Given the description of an element on the screen output the (x, y) to click on. 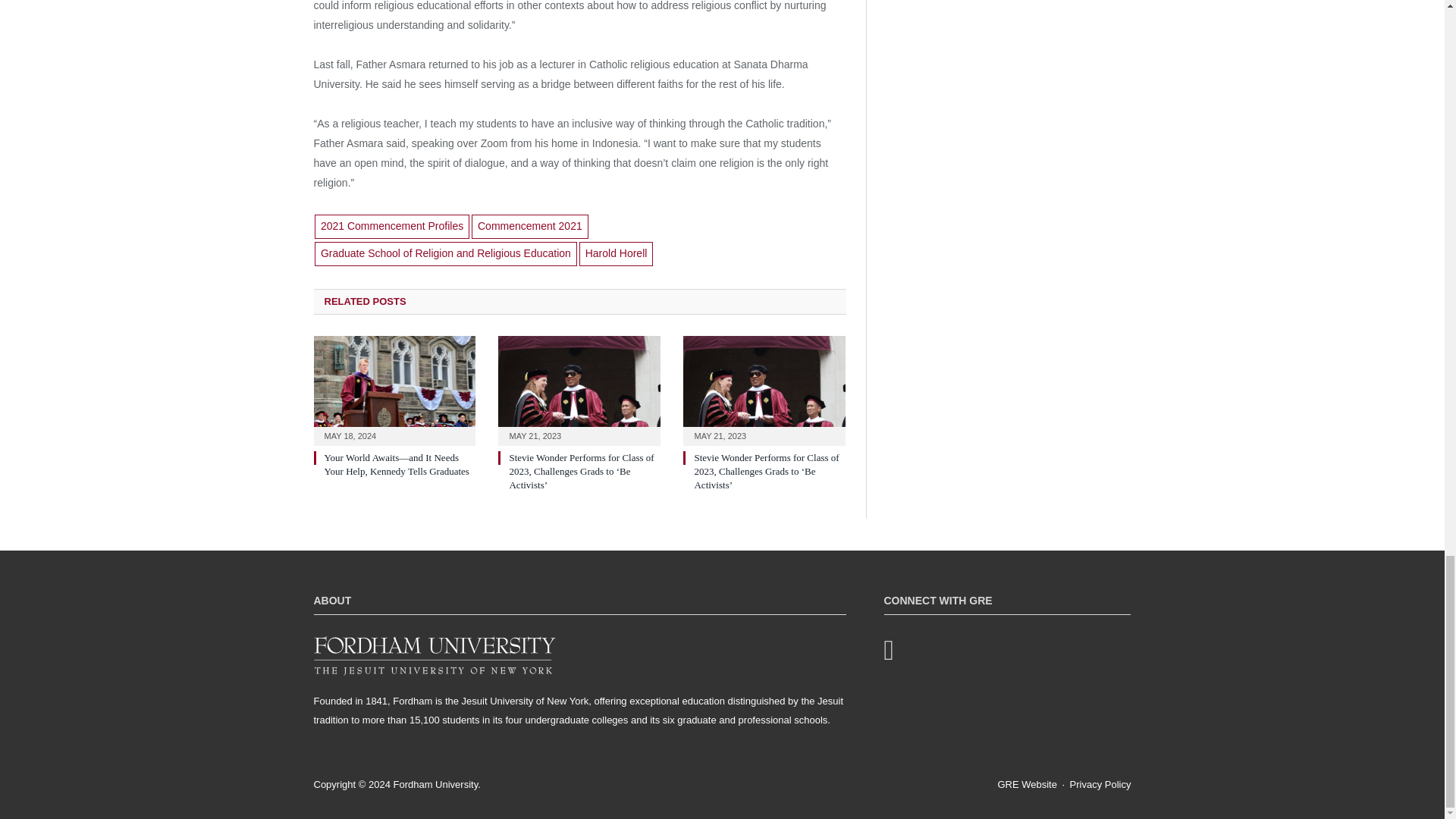
Commencement 2021 (529, 226)
2021 Commencement Profiles (391, 226)
Harold Horell (616, 253)
Graduate School of Religion and Religious Education (445, 253)
